Given the description of an element on the screen output the (x, y) to click on. 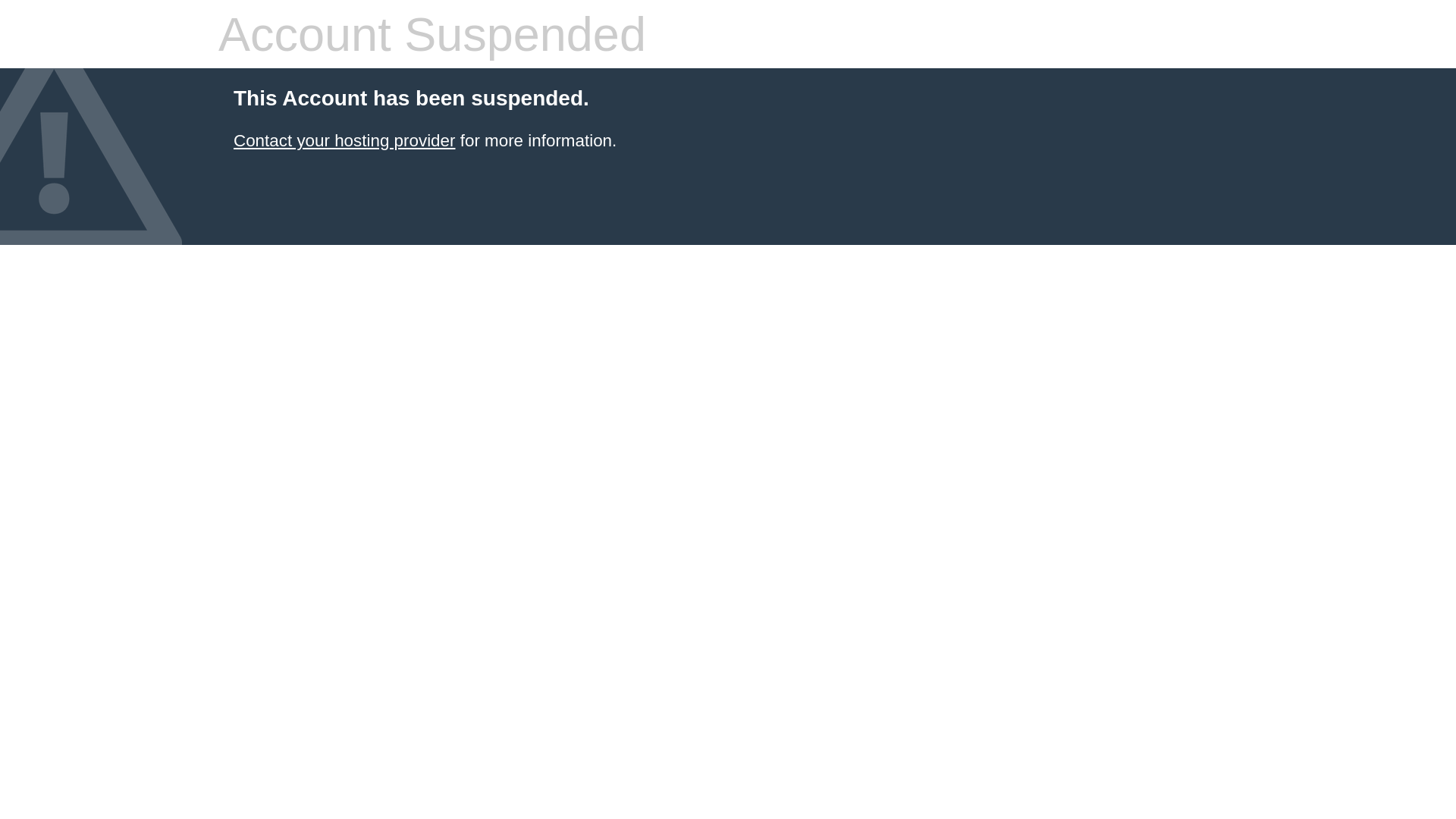
Contact your hosting provider Element type: text (344, 140)
